Given the description of an element on the screen output the (x, y) to click on. 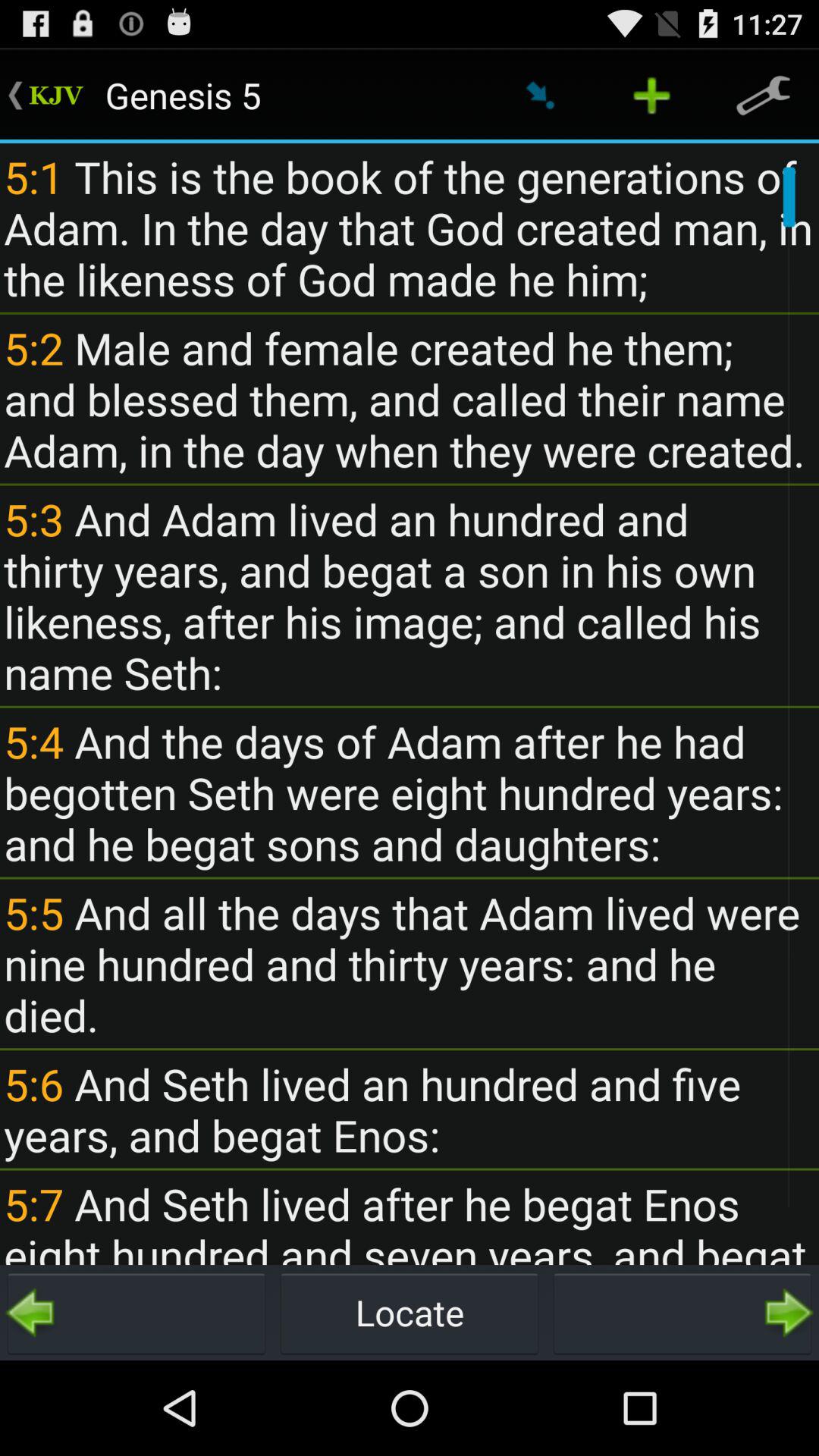
turn off item at the bottom right corner (682, 1312)
